Given the description of an element on the screen output the (x, y) to click on. 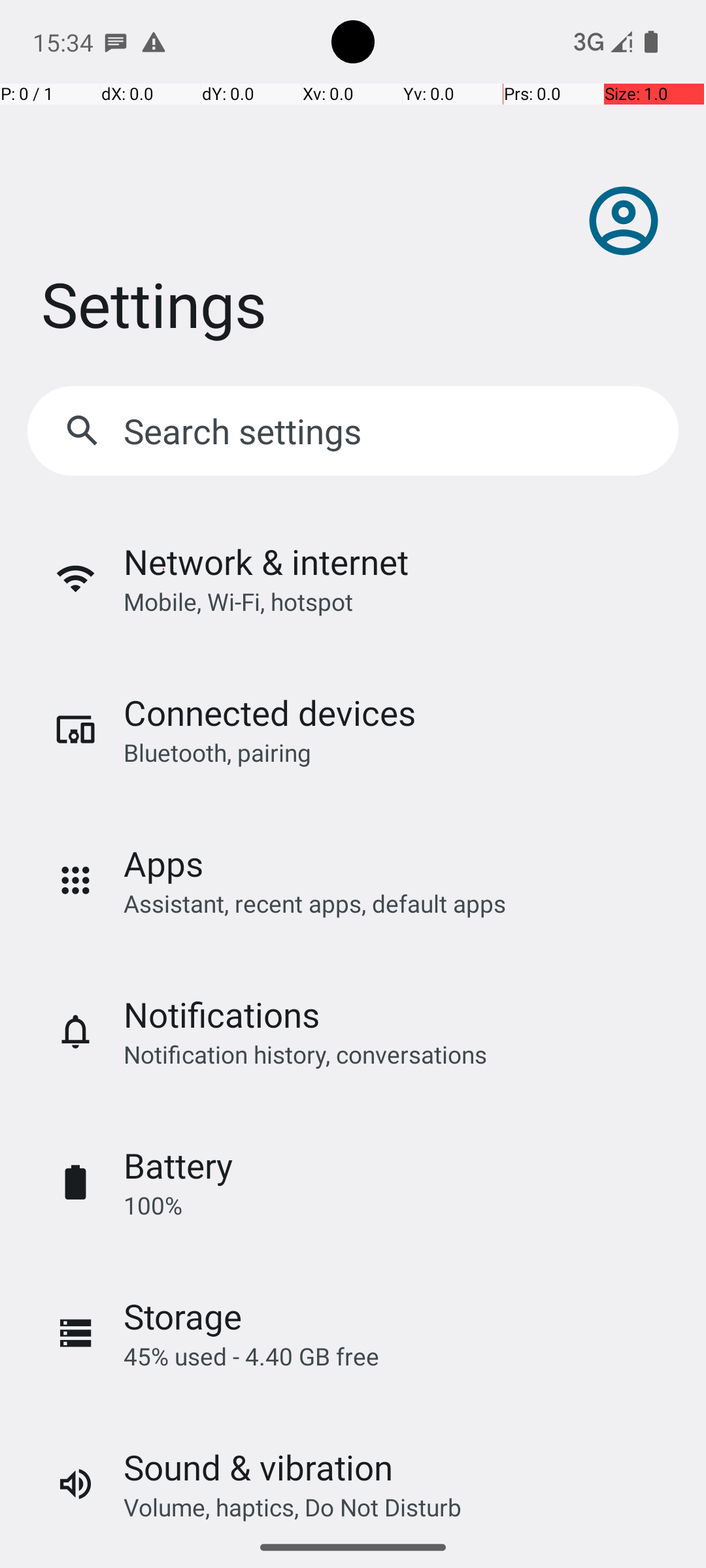
45% used - 4.40 GB free Element type: android.widget.TextView (251, 1355)
